Given the description of an element on the screen output the (x, y) to click on. 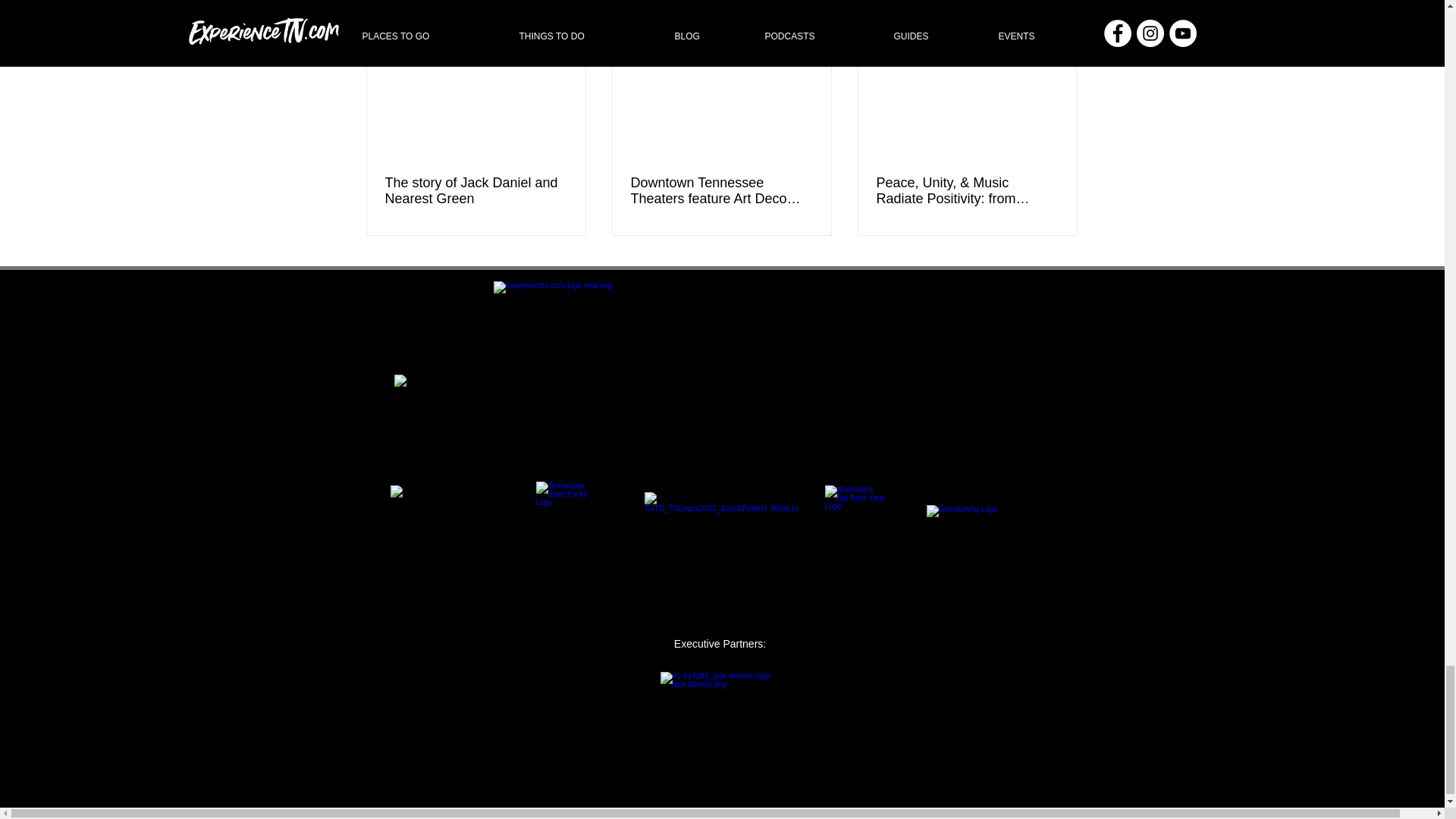
See All (1061, 9)
The story of Jack Daniel and Nearest Green (476, 191)
Learn about Geocaching (990, 512)
Tennessee State Parks Websie (566, 511)
Nashville's Big Backyard Website (855, 515)
